Given the description of an element on the screen output the (x, y) to click on. 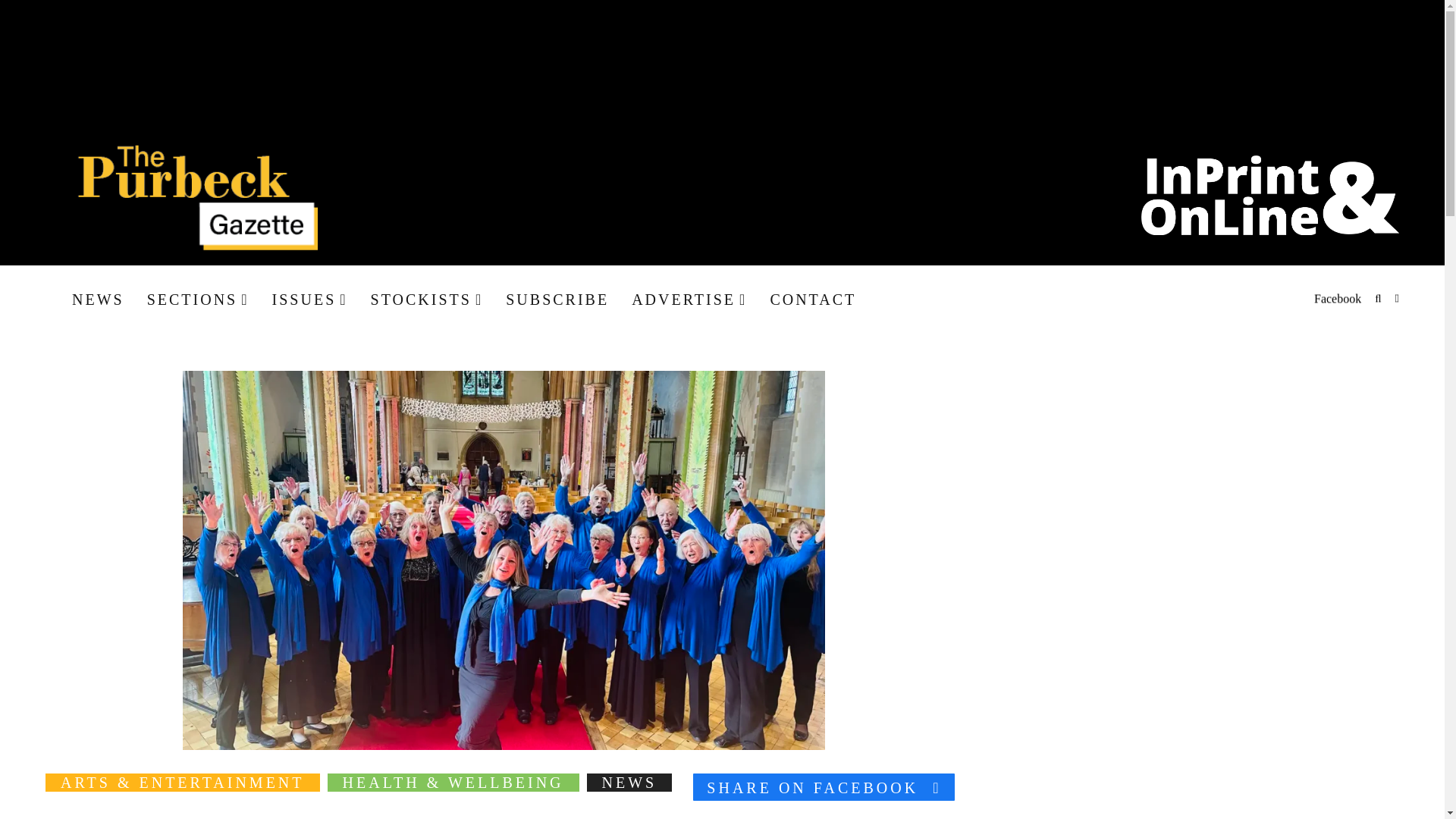
ADVERTISE (688, 299)
CONTACT (813, 299)
STOCKISTS (427, 299)
ISSUES (309, 299)
SECTIONS (197, 299)
SUBSCRIBE (556, 299)
